Given the description of an element on the screen output the (x, y) to click on. 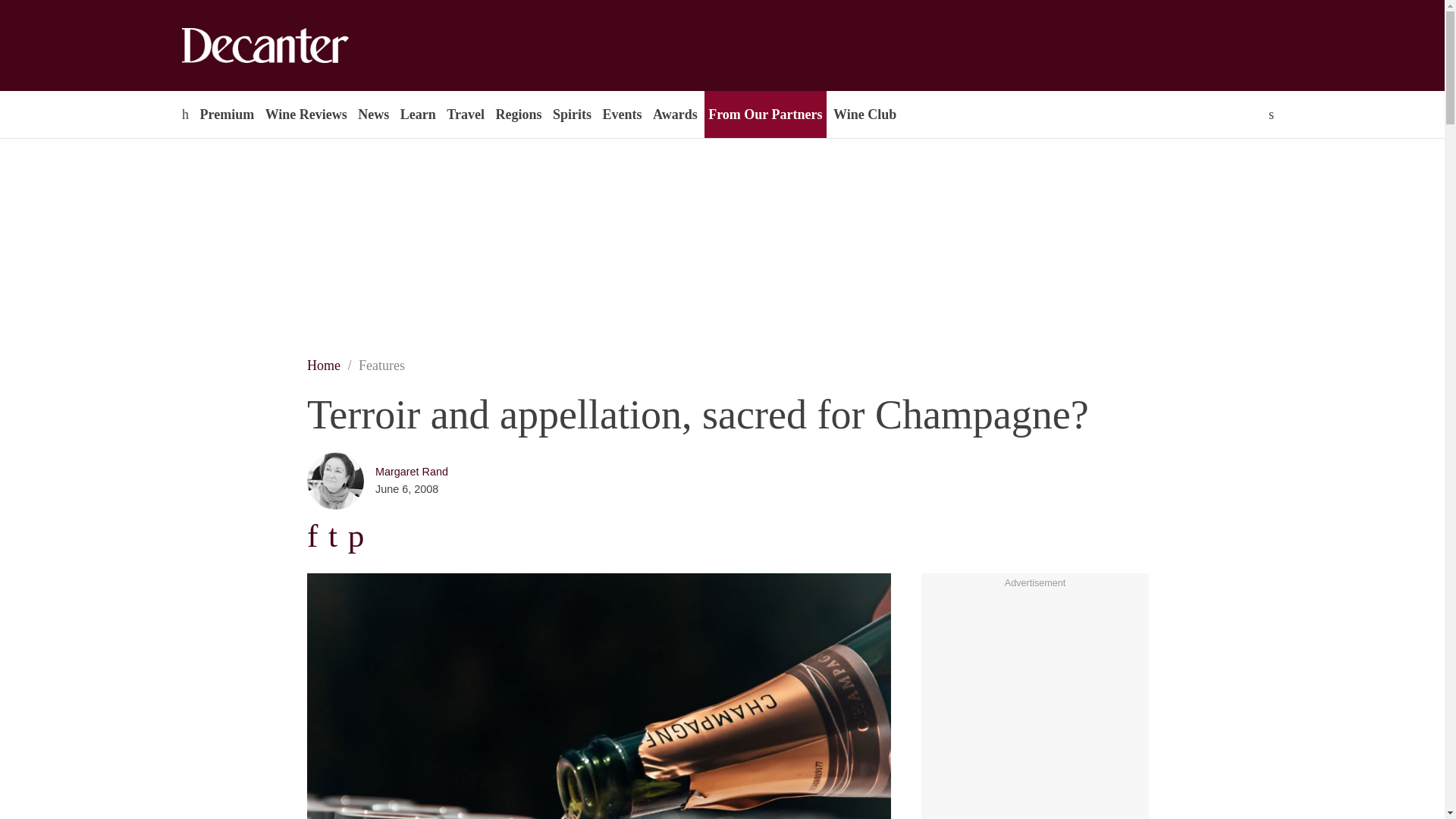
Premium (226, 114)
Learn (417, 114)
Travel (464, 114)
Awards (675, 114)
Wine Reviews (306, 114)
Decanter (297, 45)
